Given the description of an element on the screen output the (x, y) to click on. 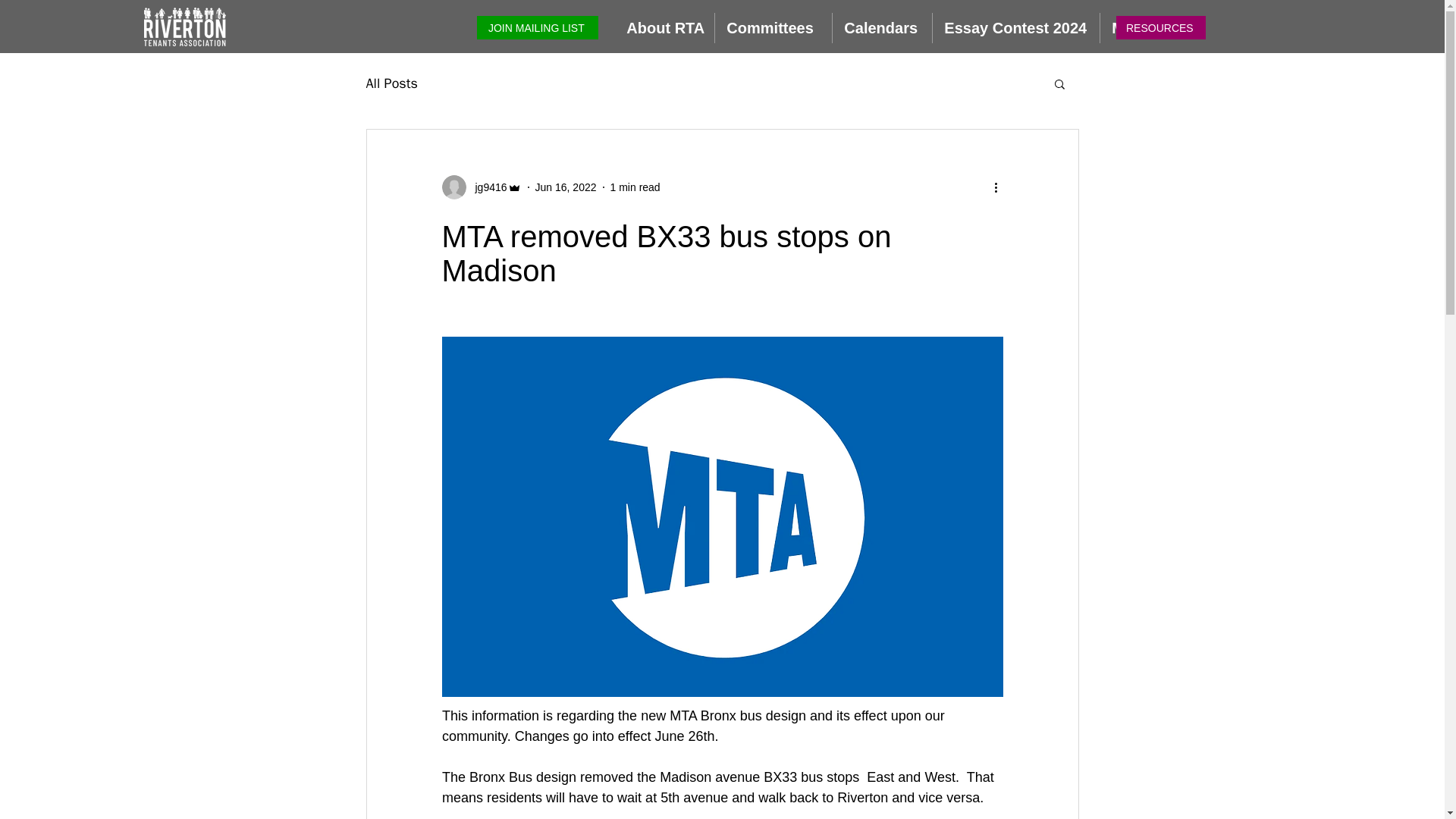
About RTA (664, 28)
Calendars (881, 28)
Jun 16, 2022 (565, 186)
RESOURCES (1160, 27)
JOIN MAILING LIST (537, 27)
Essay Contest 2024 (1016, 28)
jg9416 (485, 186)
1 min read (635, 186)
jg9416 (481, 187)
Committees (772, 28)
